Given the description of an element on the screen output the (x, y) to click on. 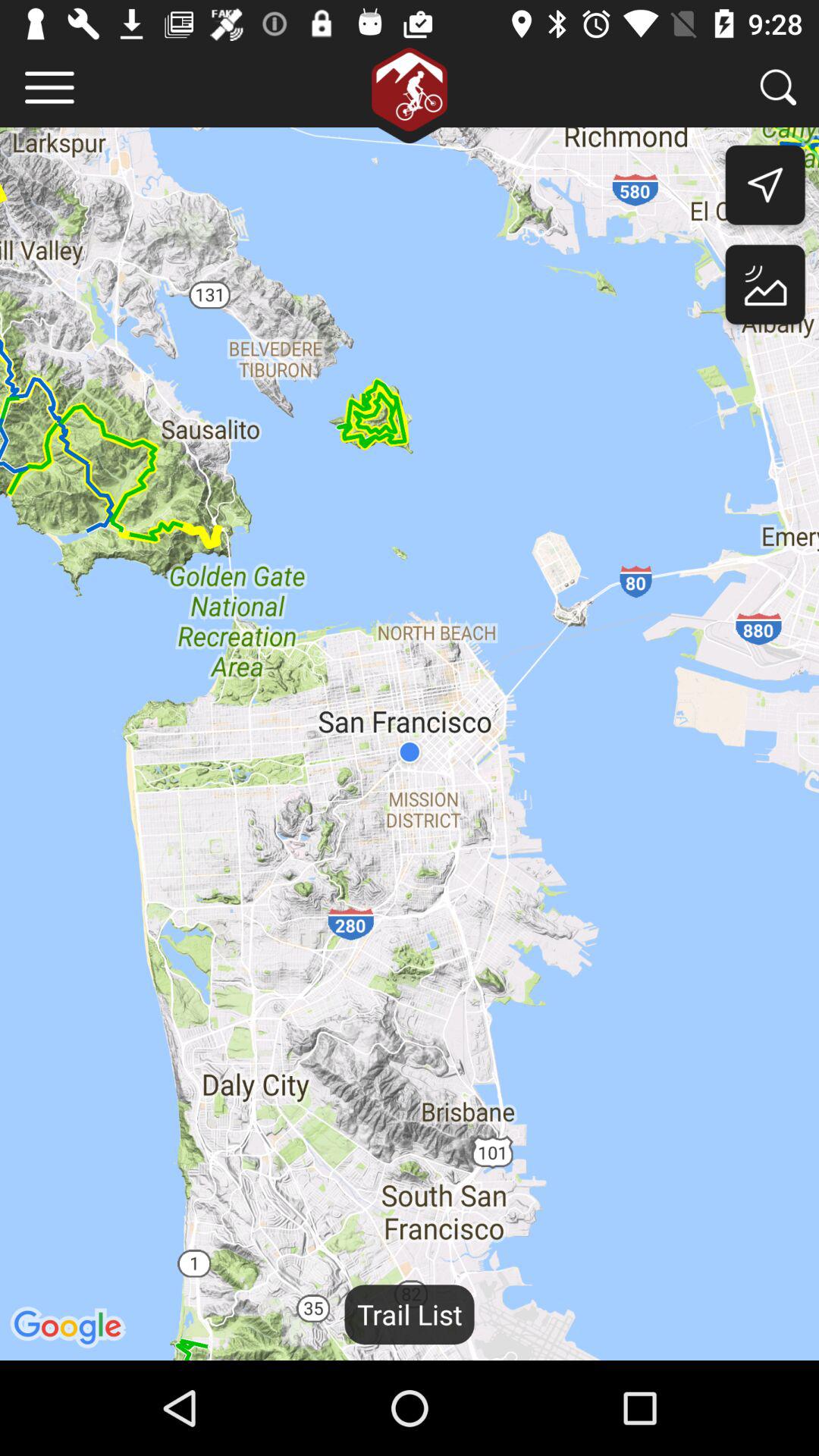
search box (778, 87)
